Given the description of an element on the screen output the (x, y) to click on. 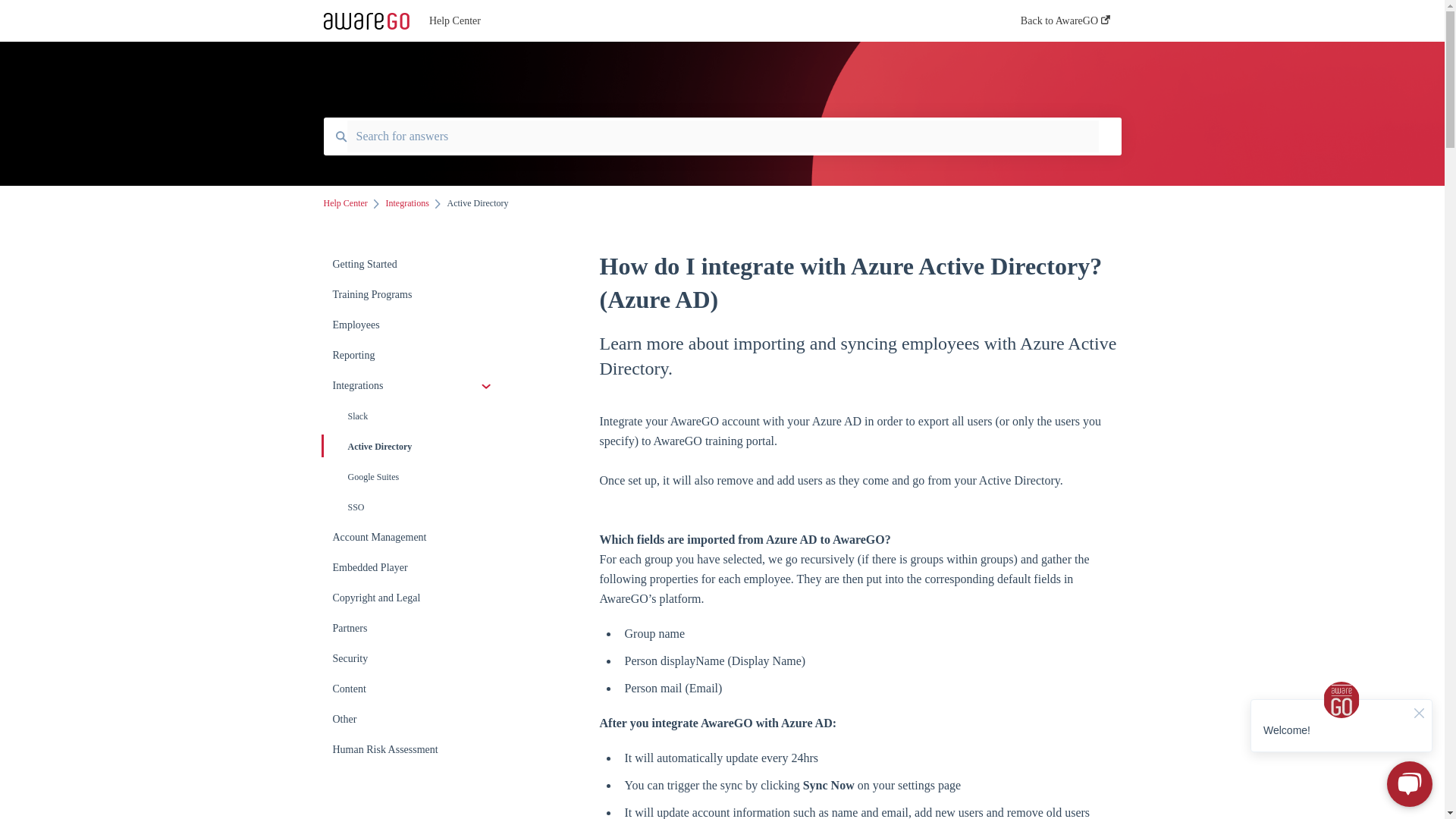
Copyright and Legal (414, 598)
Integrations (414, 386)
Active Directory (414, 446)
Security (414, 658)
Help Center (702, 21)
Embedded Player (414, 567)
Help Center (344, 203)
Partners (414, 628)
Google Suites (414, 476)
Account Management (414, 537)
Getting Started (414, 264)
Content (414, 689)
Employees (414, 325)
Back to AwareGO (1064, 25)
Slack (414, 416)
